Given the description of an element on the screen output the (x, y) to click on. 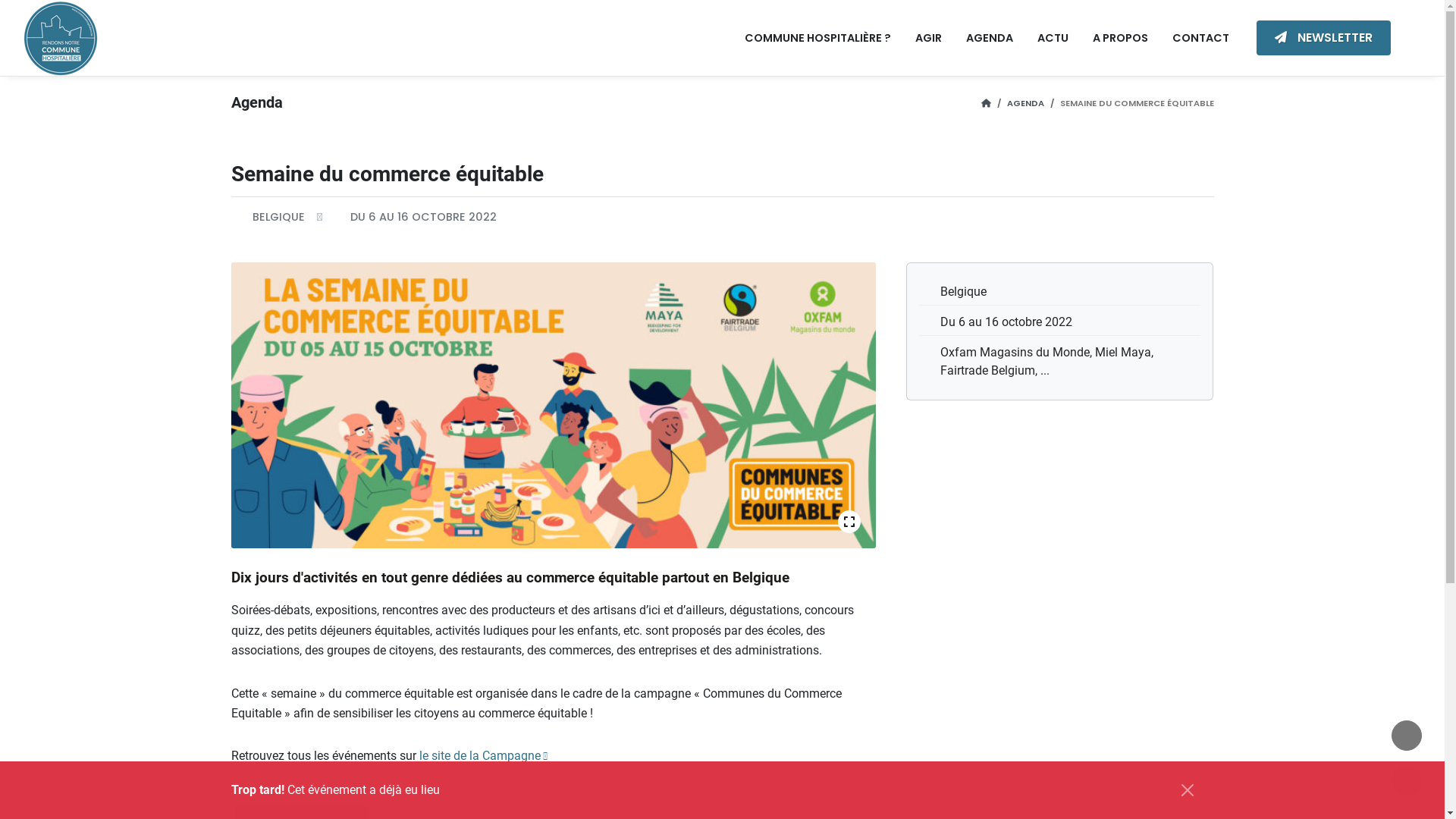
CONTACT Element type: text (1200, 37)
le site de la Campagne Element type: text (482, 755)
ACTU Element type: text (1052, 37)
NEWSLETTER Element type: text (1323, 37)
Accueil Element type: hover (986, 103)
AGENDA Element type: text (989, 37)
AGENDA Element type: text (1025, 103)
AGIR Element type: text (928, 37)
A PROPOS Element type: text (1120, 37)
